Given the description of an element on the screen output the (x, y) to click on. 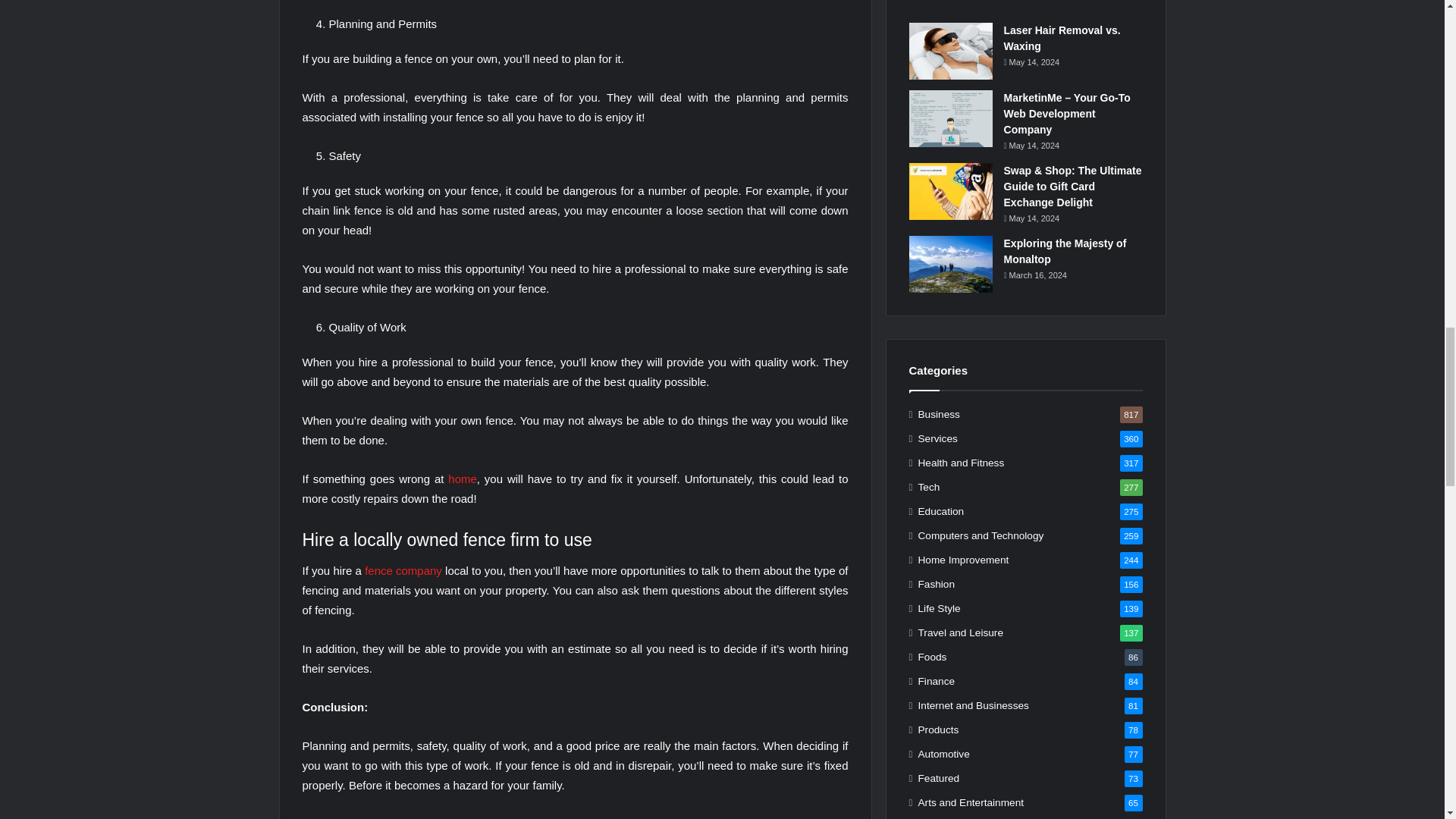
fence company (403, 570)
home (462, 478)
